Given the description of an element on the screen output the (x, y) to click on. 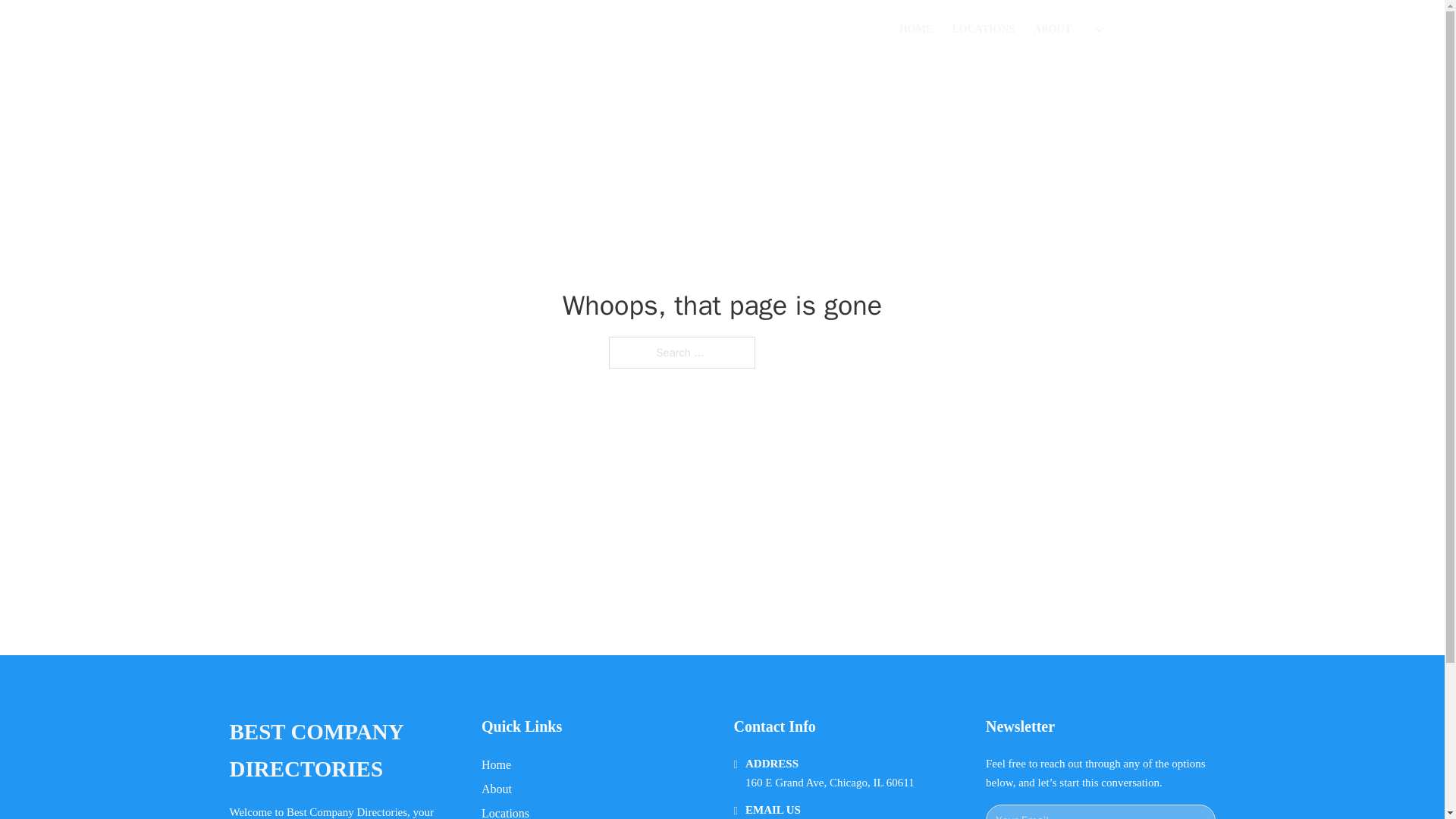
Home (496, 764)
LOCATIONS (982, 29)
BEST COMPANY DIRECTORIES (455, 28)
BEST COMPANY DIRECTORIES (343, 750)
About (496, 788)
Locations (505, 811)
HOME (915, 29)
